Given the description of an element on the screen output the (x, y) to click on. 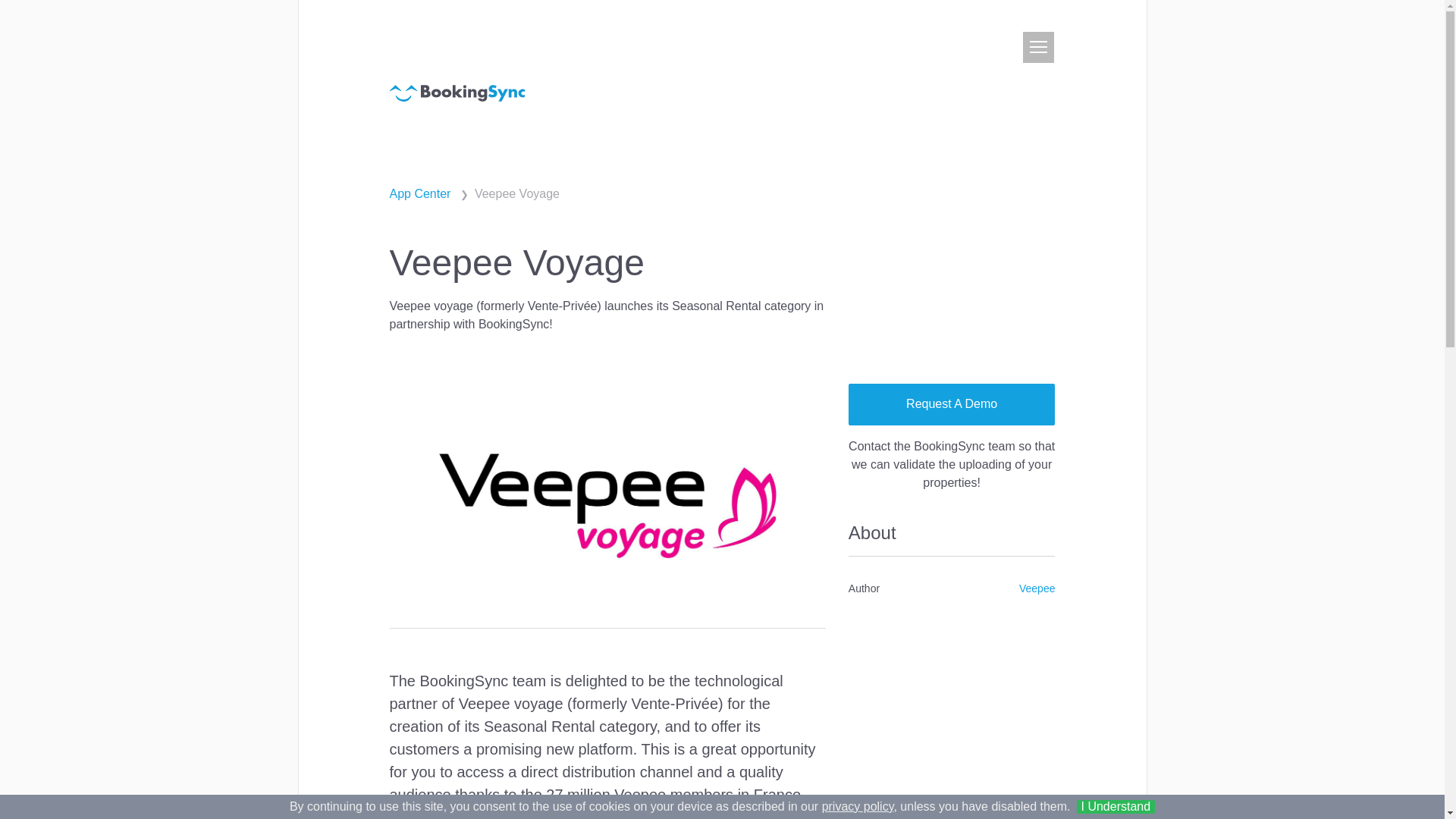
Request A Demo (951, 404)
privacy policy (857, 806)
App Center (420, 193)
BookingSync (457, 91)
Veepee (1037, 588)
translation missing: en.public.navigation.app-center (420, 193)
I Understand (1116, 807)
